Given the description of an element on the screen output the (x, y) to click on. 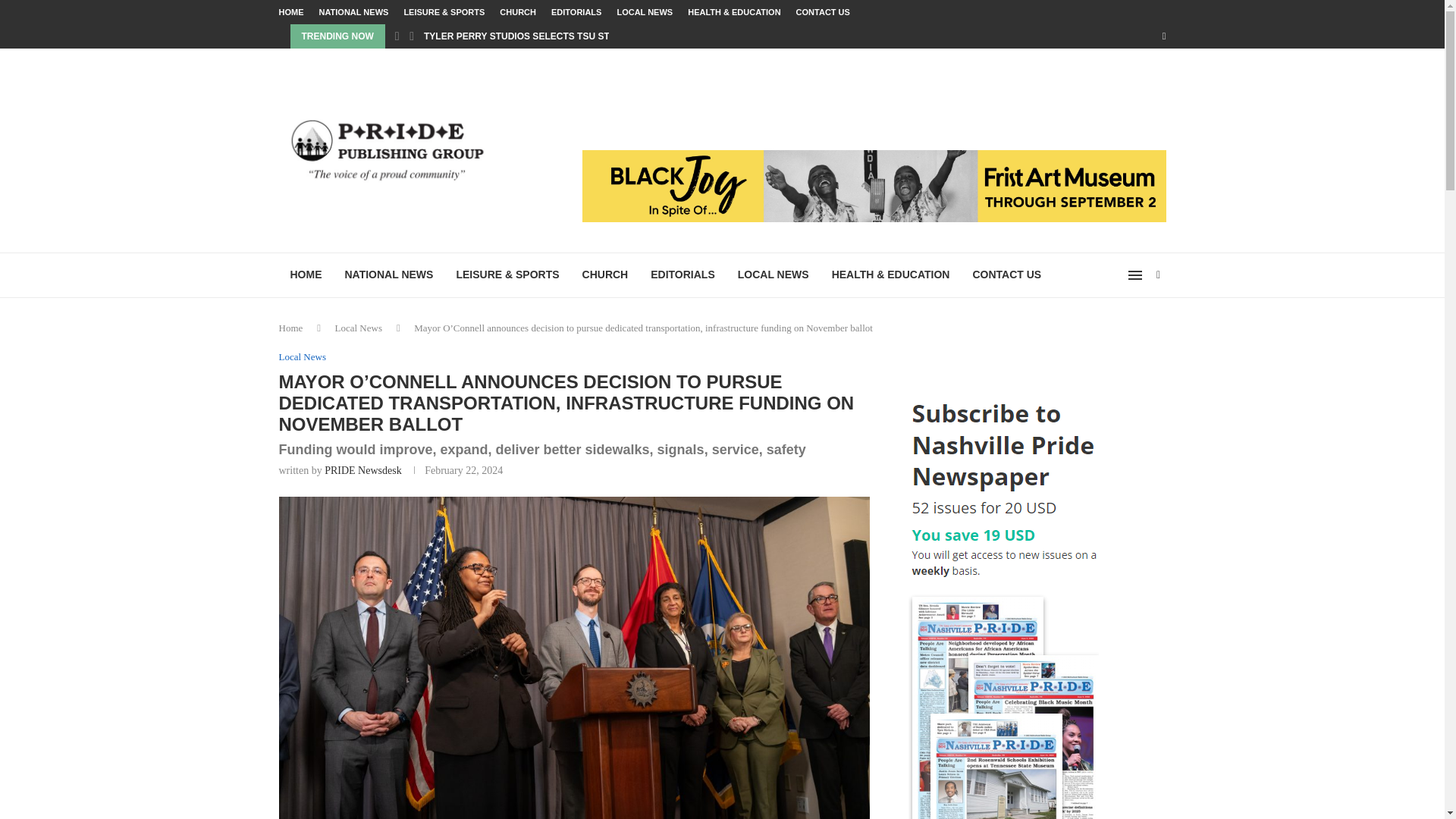
NATIONAL NEWS (389, 275)
CHURCH (605, 275)
CHURCH (517, 12)
HOME (291, 12)
HOME (306, 275)
NATIONAL NEWS (353, 12)
TYLER PERRY STUDIOS SELECTS TSU STUDENT FOR INTERNSHIP (571, 36)
EDITORIALS (682, 275)
LOCAL NEWS (773, 275)
CONTACT US (823, 12)
LOCAL NEWS (643, 12)
EDITORIALS (576, 12)
